Given the description of an element on the screen output the (x, y) to click on. 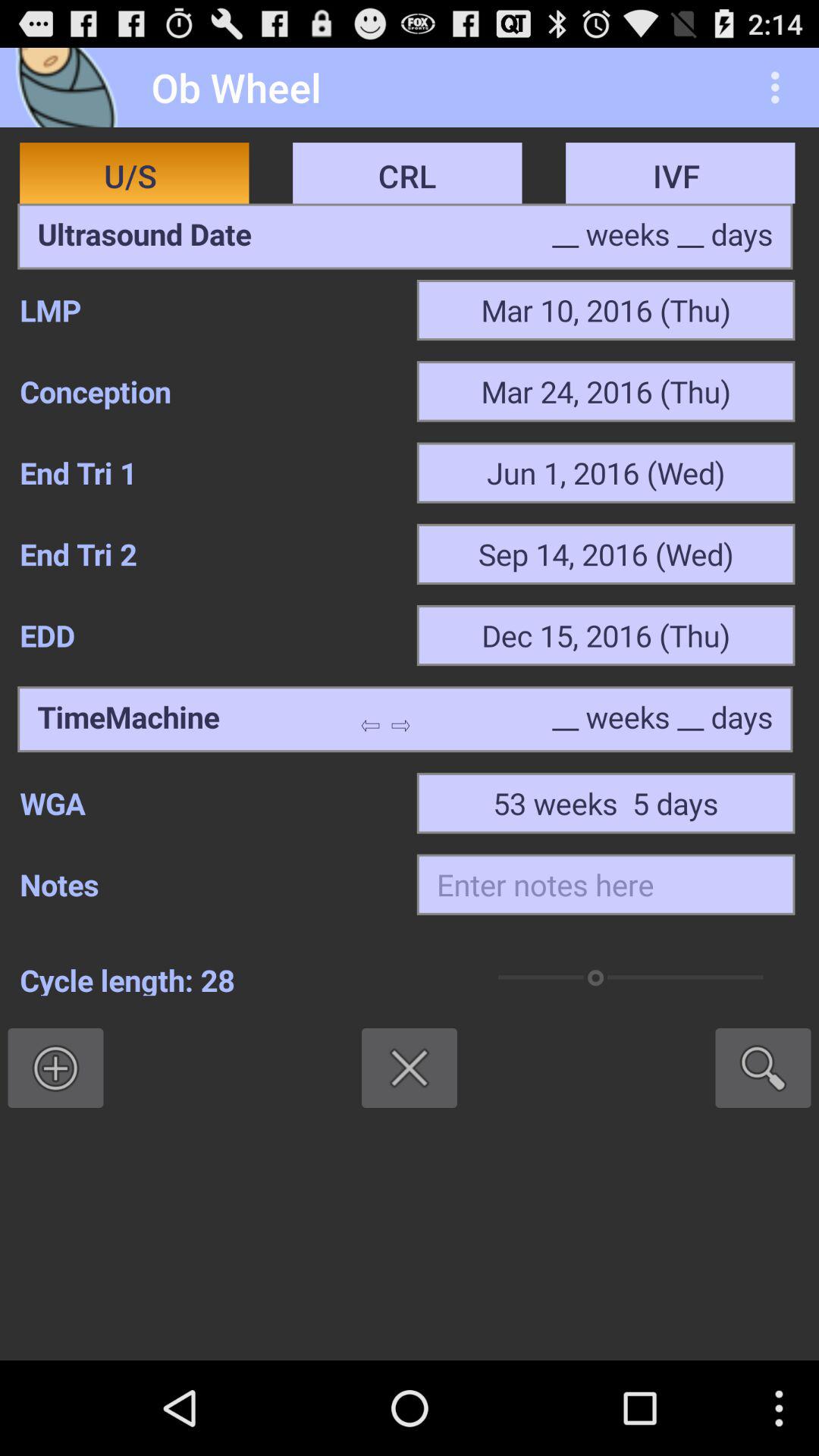
turn off item to the right of wga (605, 802)
